Given the description of an element on the screen output the (x, y) to click on. 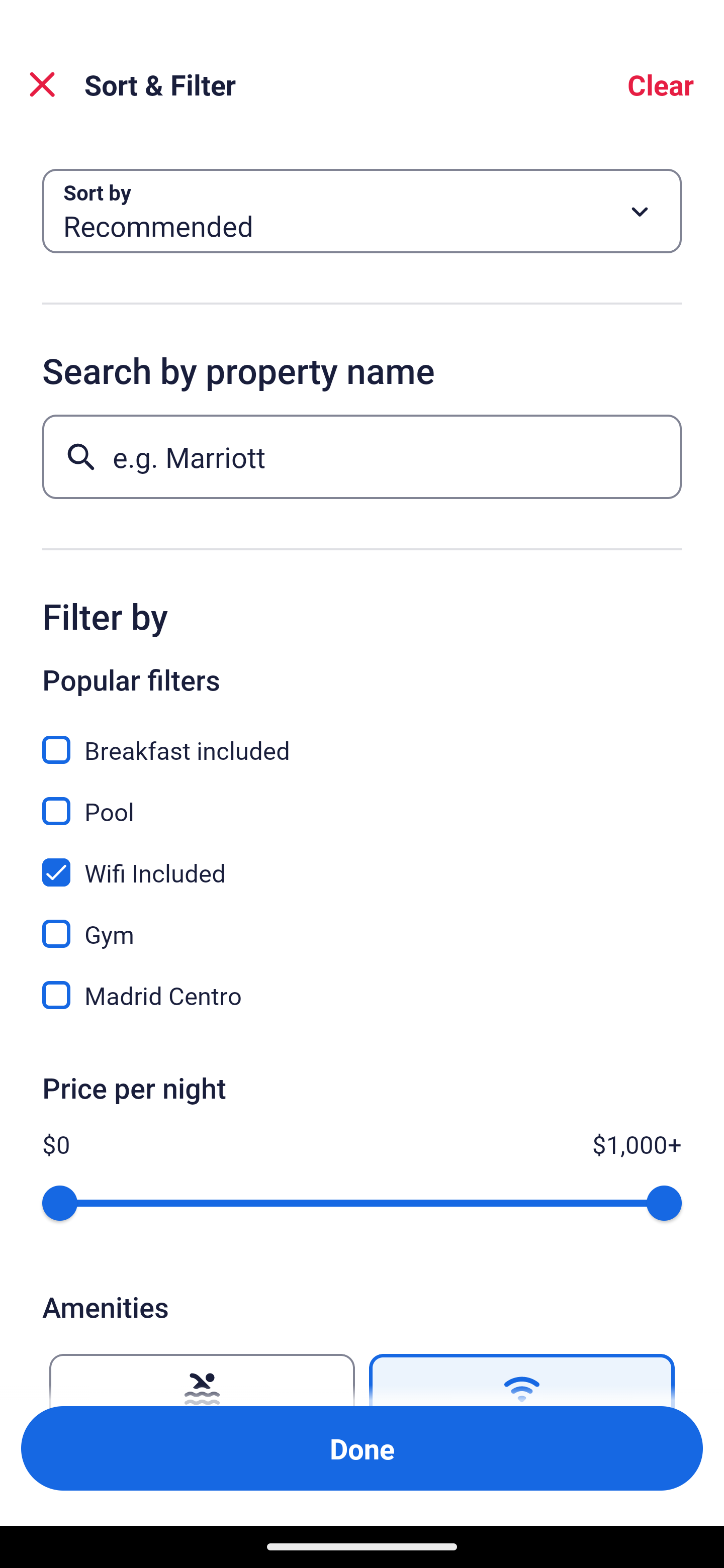
Close Sort and Filter (42, 84)
Clear (660, 84)
Sort by Button Recommended (361, 211)
e.g. Marriott Button (361, 455)
Breakfast included, Breakfast included (361, 738)
Pool, Pool (361, 800)
Wifi Included, Wifi Included (361, 861)
Gym, Gym (361, 922)
Madrid Centro, Madrid Centro (361, 995)
Apply and close Sort and Filter Done (361, 1448)
